Given the description of an element on the screen output the (x, y) to click on. 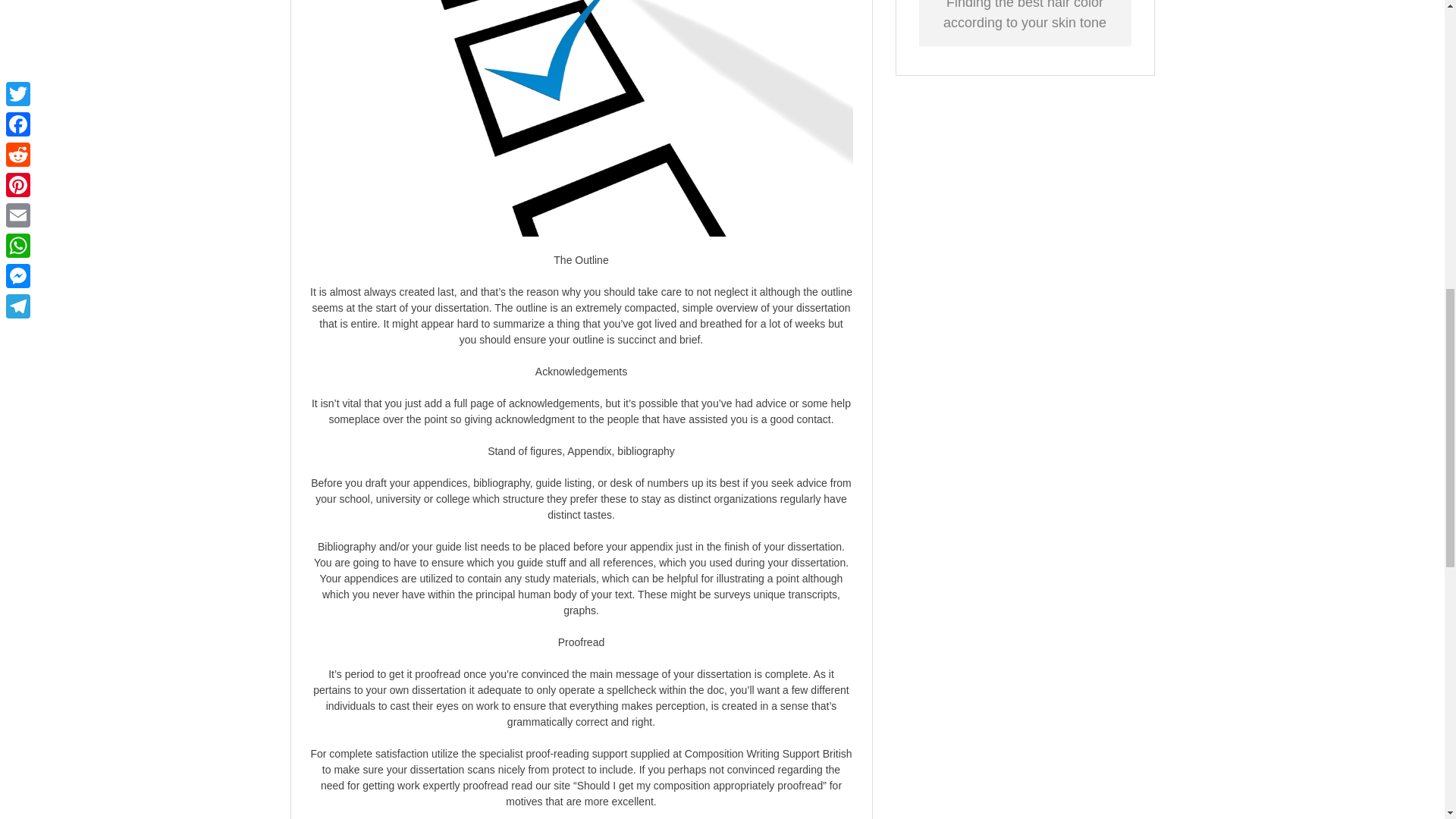
Finding the best hair color according to your skin tone (1024, 15)
